Given the description of an element on the screen output the (x, y) to click on. 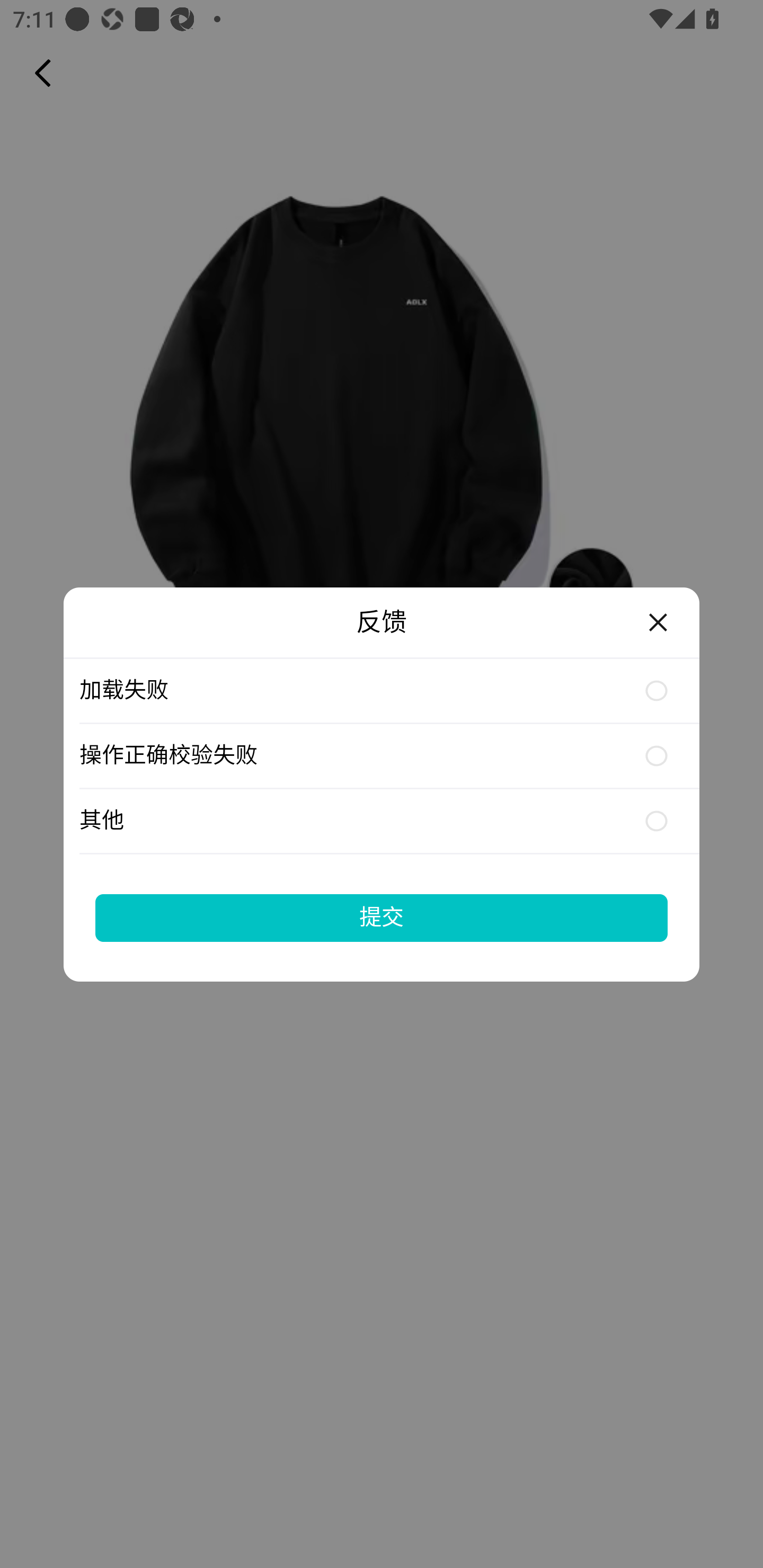
提交 (381, 917)
